Given the description of an element on the screen output the (x, y) to click on. 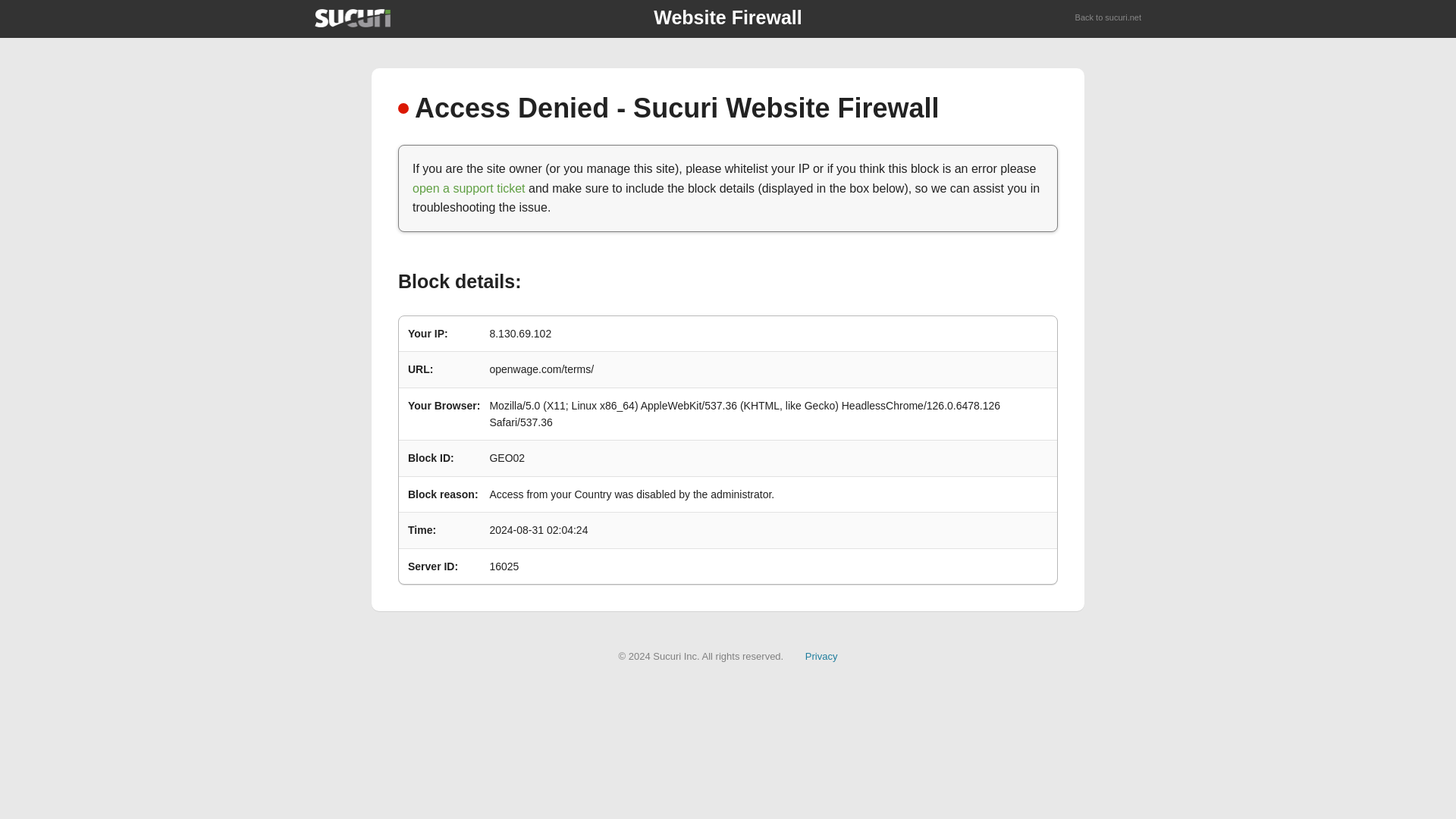
Back to sucuri.net (1108, 18)
Privacy (821, 655)
open a support ticket (468, 187)
